Given the description of an element on the screen output the (x, y) to click on. 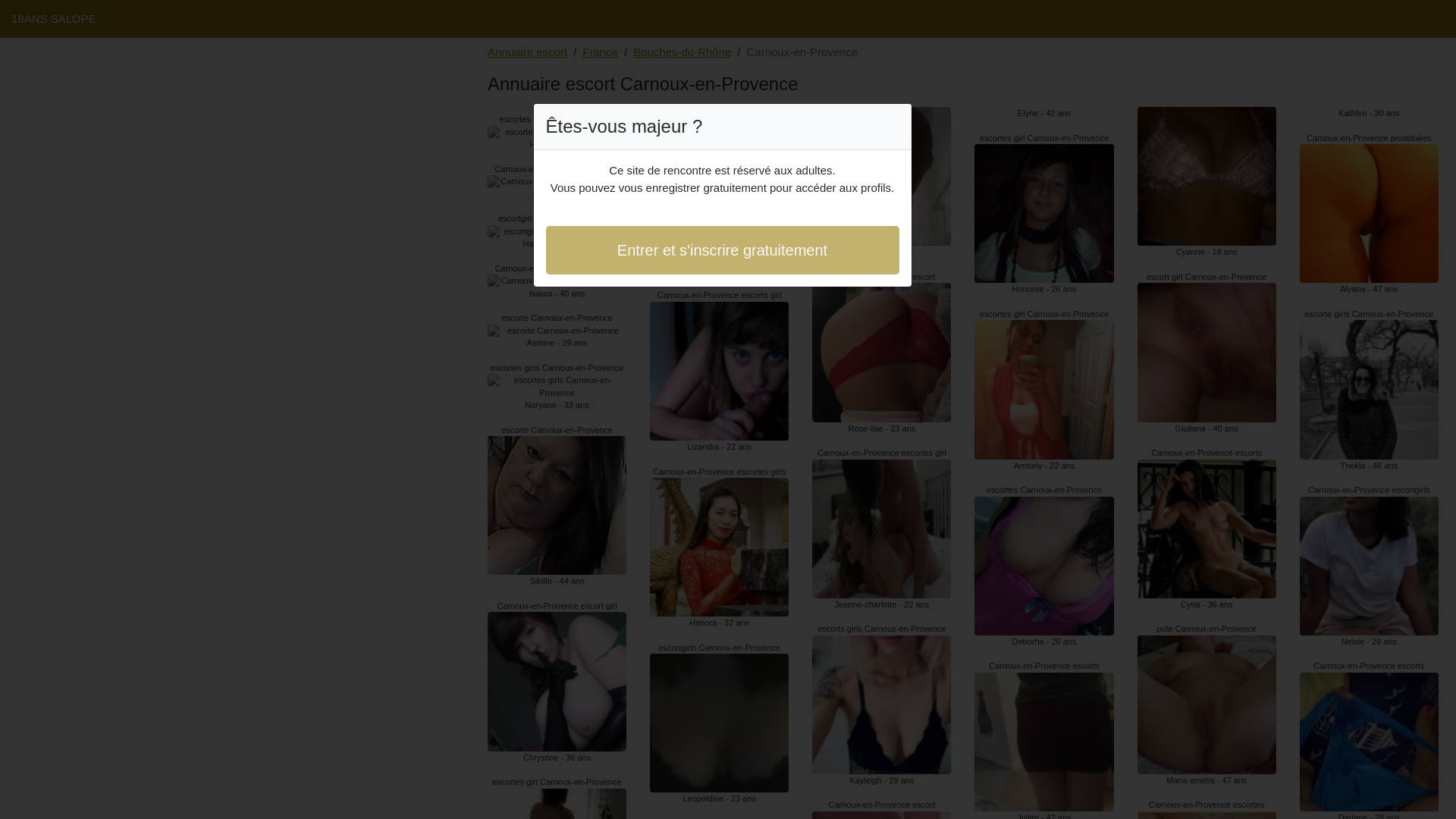
Entrer et s'inscrire gratuitement Element type: text (722, 249)
Annuaire escort Element type: text (527, 52)
18ANS SALOPE Element type: text (53, 18)
France Element type: text (600, 52)
